Given the description of an element on the screen output the (x, y) to click on. 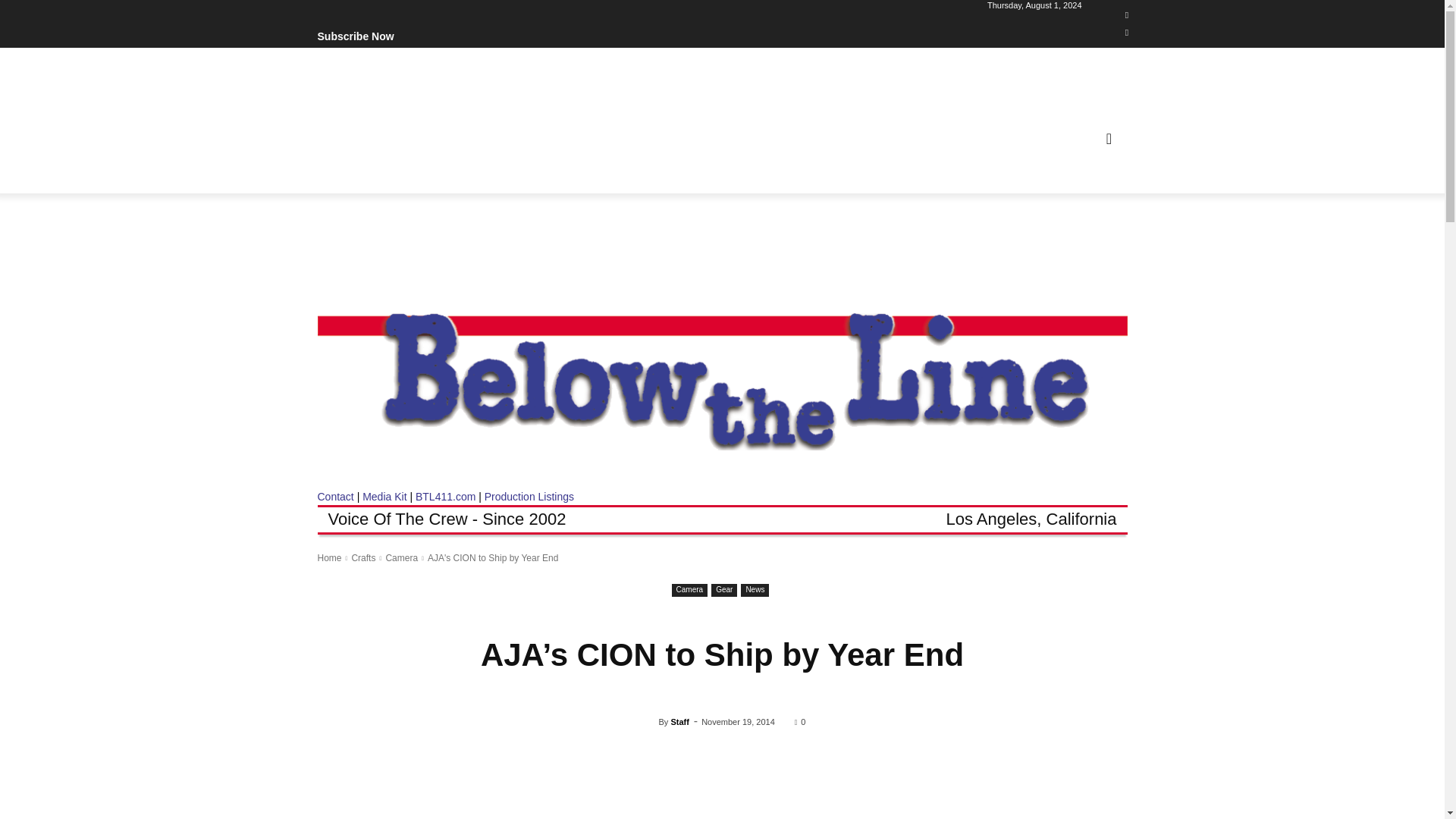
View all posts in Crafts (362, 557)
Facebook (1126, 15)
View all posts in Camera (401, 557)
Twitter (1126, 32)
Staff (649, 721)
